Given the description of an element on the screen output the (x, y) to click on. 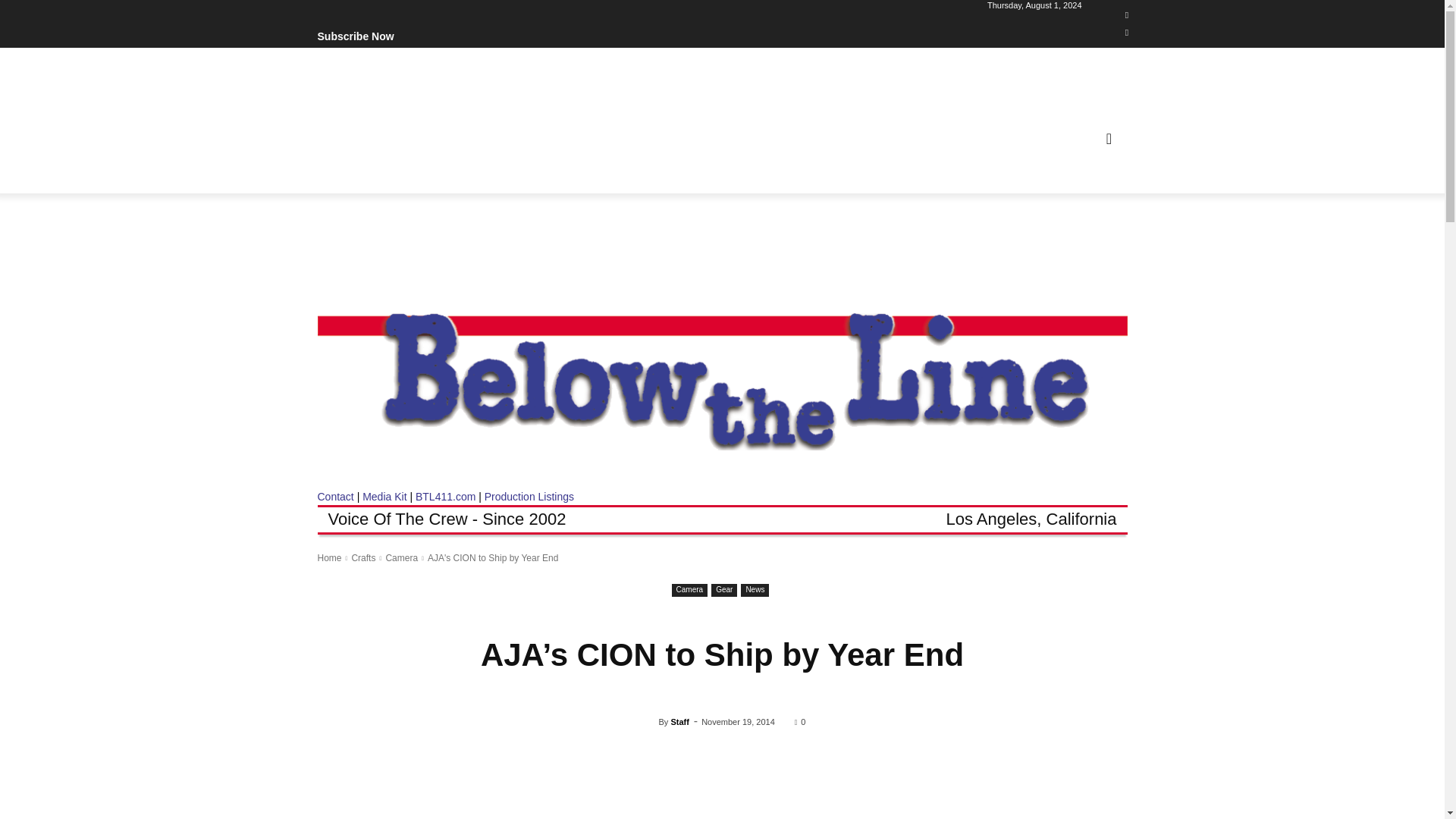
View all posts in Crafts (362, 557)
Facebook (1126, 15)
View all posts in Camera (401, 557)
Twitter (1126, 32)
Staff (649, 721)
